Given the description of an element on the screen output the (x, y) to click on. 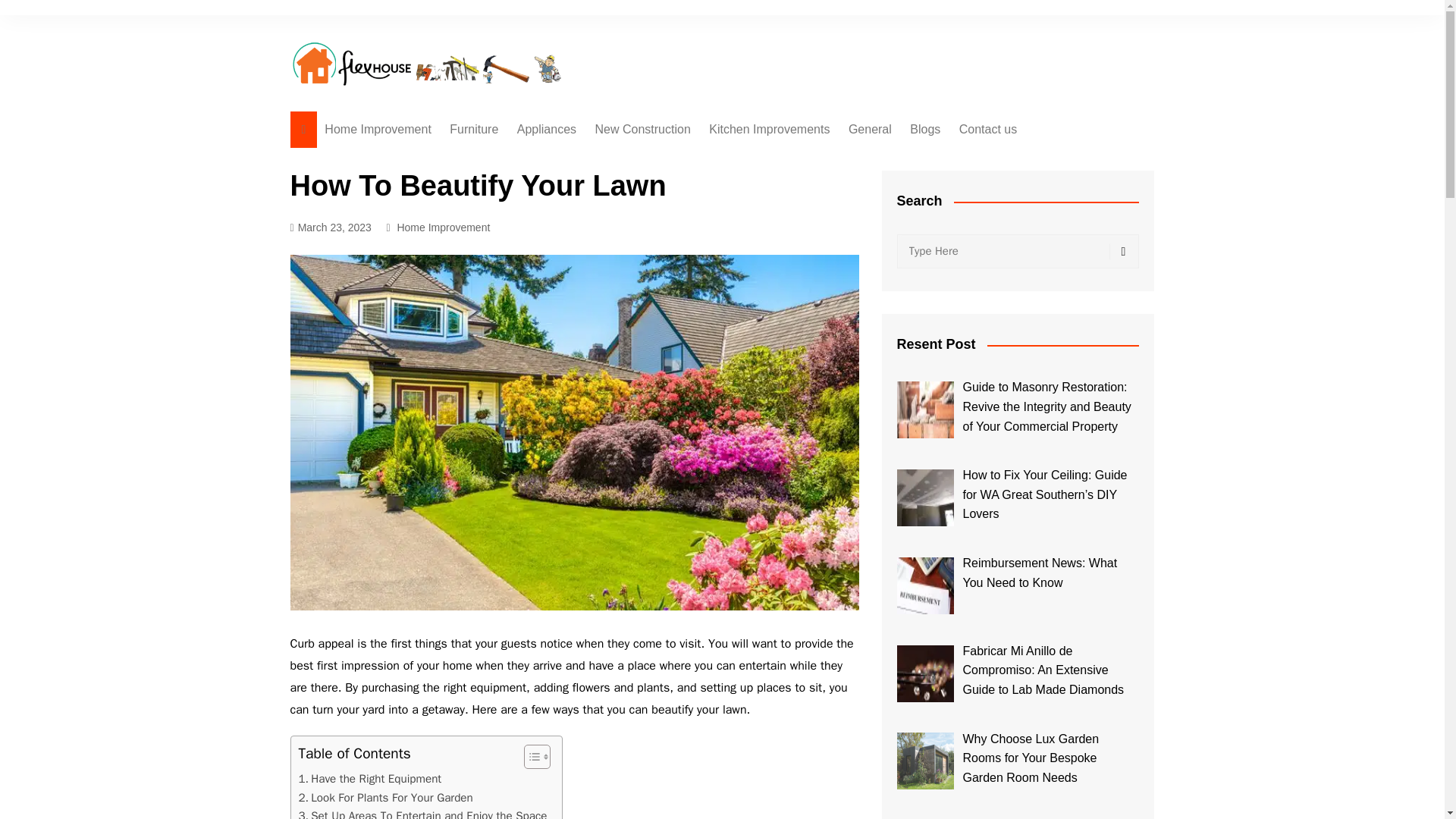
Furniture (473, 129)
Set Up Areas To Entertain and Enjoy the Space (422, 812)
DIY (671, 348)
Home Improvement (442, 227)
Pest Control (924, 160)
Look For Plants For Your Garden (385, 797)
Interior Design and Decorating (525, 166)
March 23, 2023 (330, 227)
Appliances (546, 129)
Have the Right Equipment (370, 778)
